Given the description of an element on the screen output the (x, y) to click on. 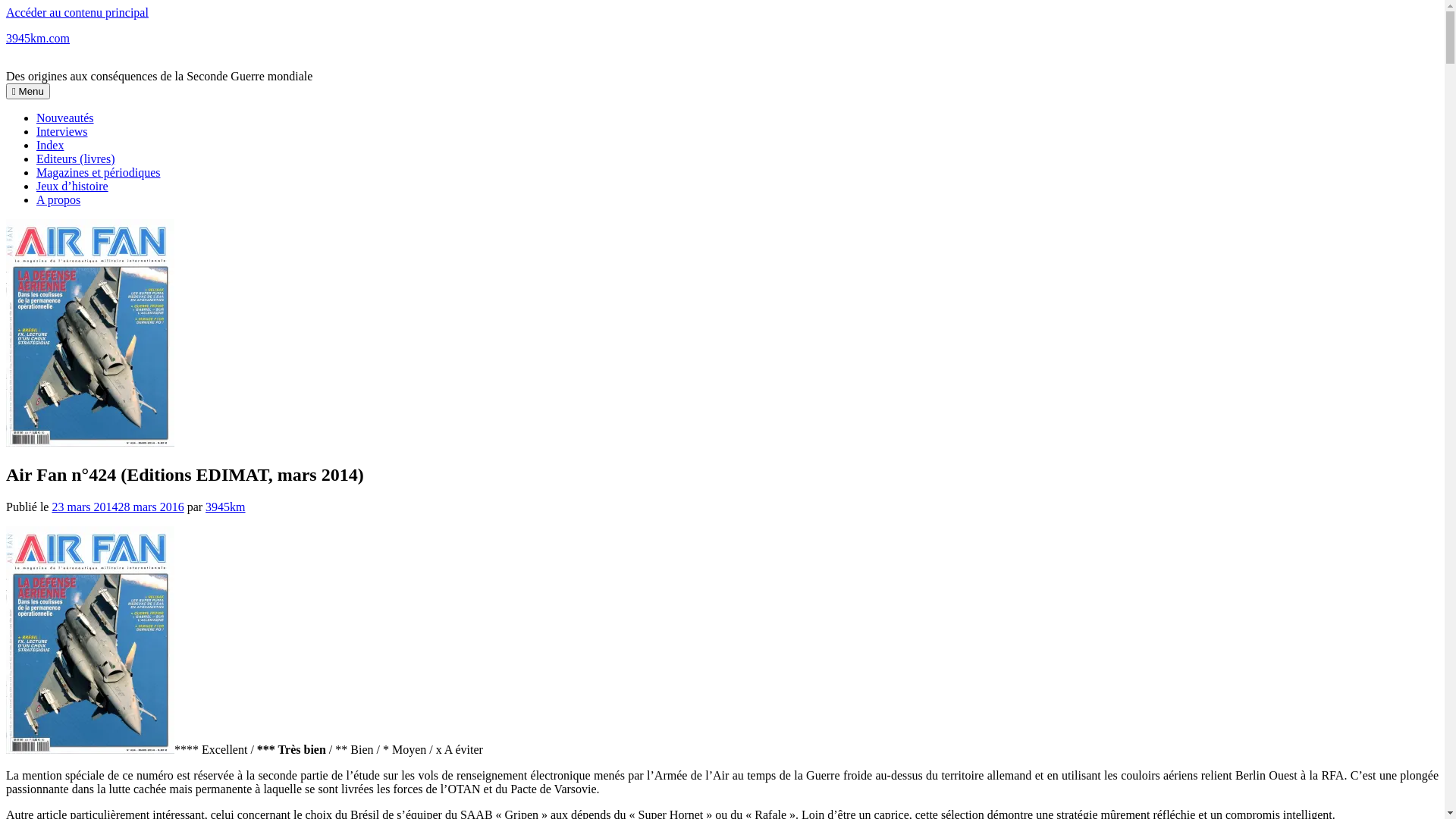
Index Element type: text (49, 144)
Interviews Element type: text (61, 131)
3945km.com Element type: text (37, 37)
A propos Element type: text (58, 199)
3945km Element type: text (224, 506)
Editeurs (livres) Element type: text (75, 158)
23 mars 201428 mars 2016 Element type: text (117, 506)
